Given the description of an element on the screen output the (x, y) to click on. 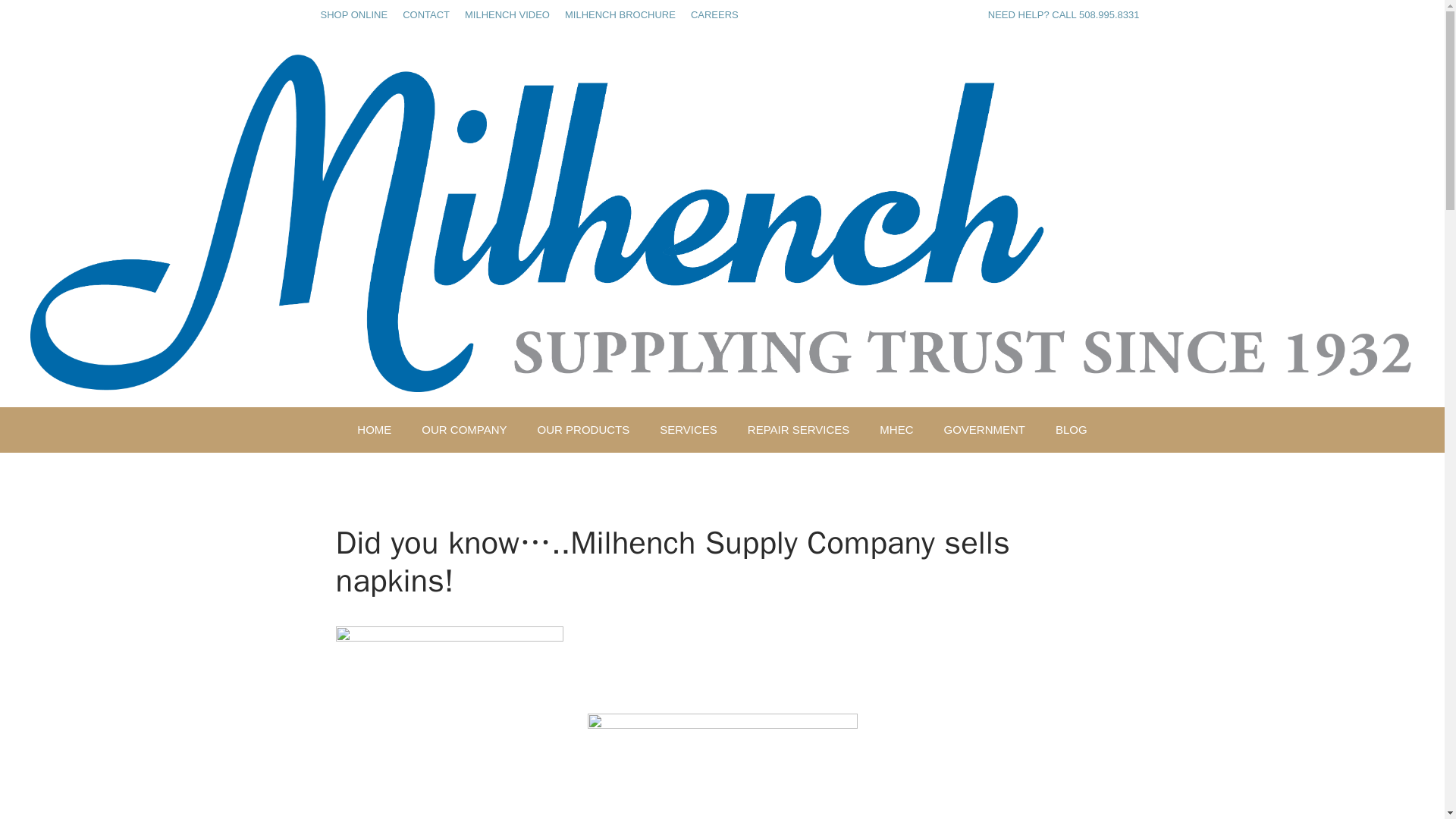
MILHENCH VIDEO (507, 14)
OUR COMPANY (463, 429)
MHEC (896, 429)
SHOP ONLINE (353, 14)
GOVERNMENT (984, 429)
OUR PRODUCTS (583, 429)
CONTACT (426, 14)
REPAIR SERVICES (798, 429)
BLOG (1071, 429)
CAREERS (714, 14)
